Given the description of an element on the screen output the (x, y) to click on. 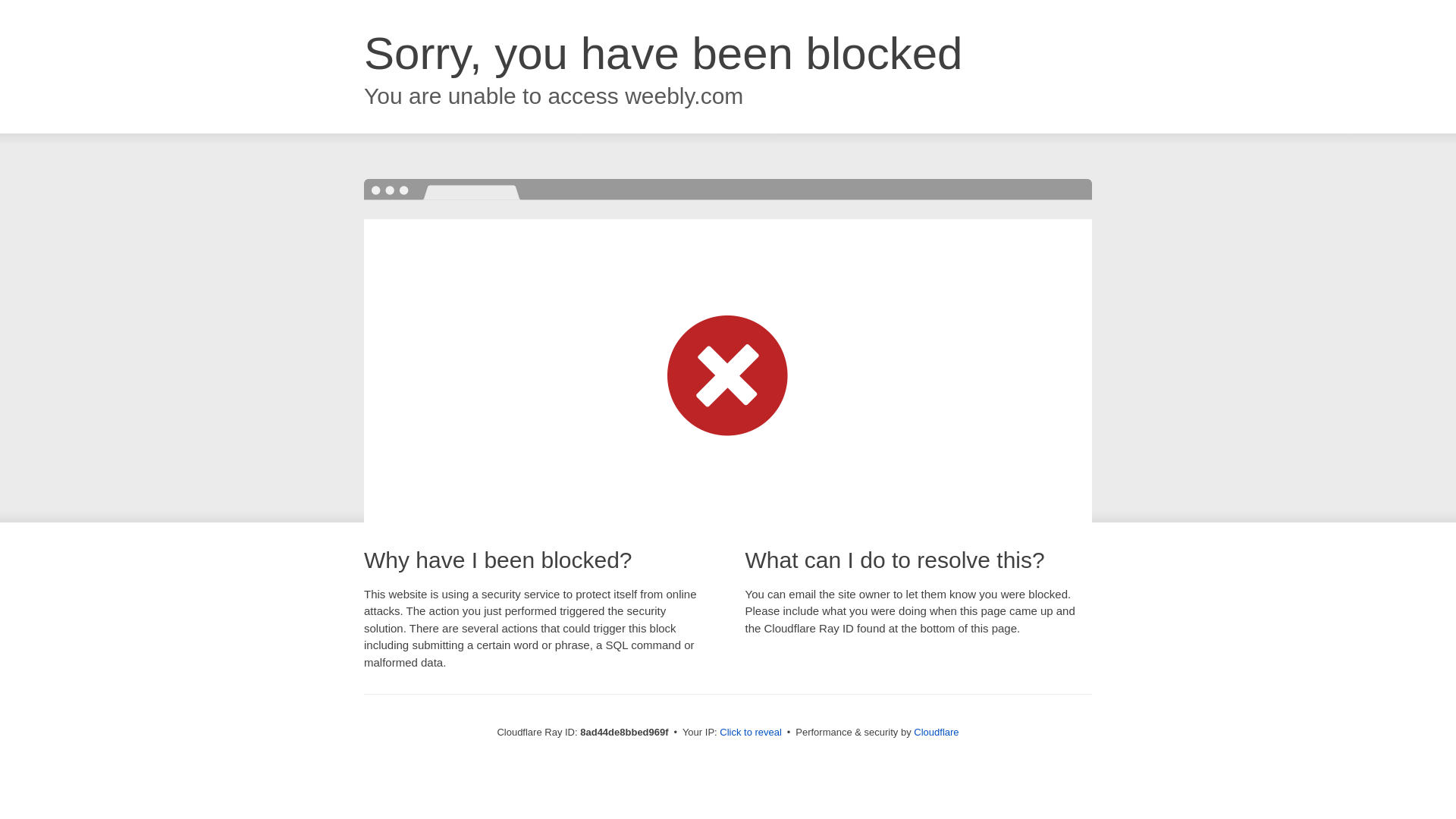
Click to reveal (750, 732)
Cloudflare (936, 731)
